Given the description of an element on the screen output the (x, y) to click on. 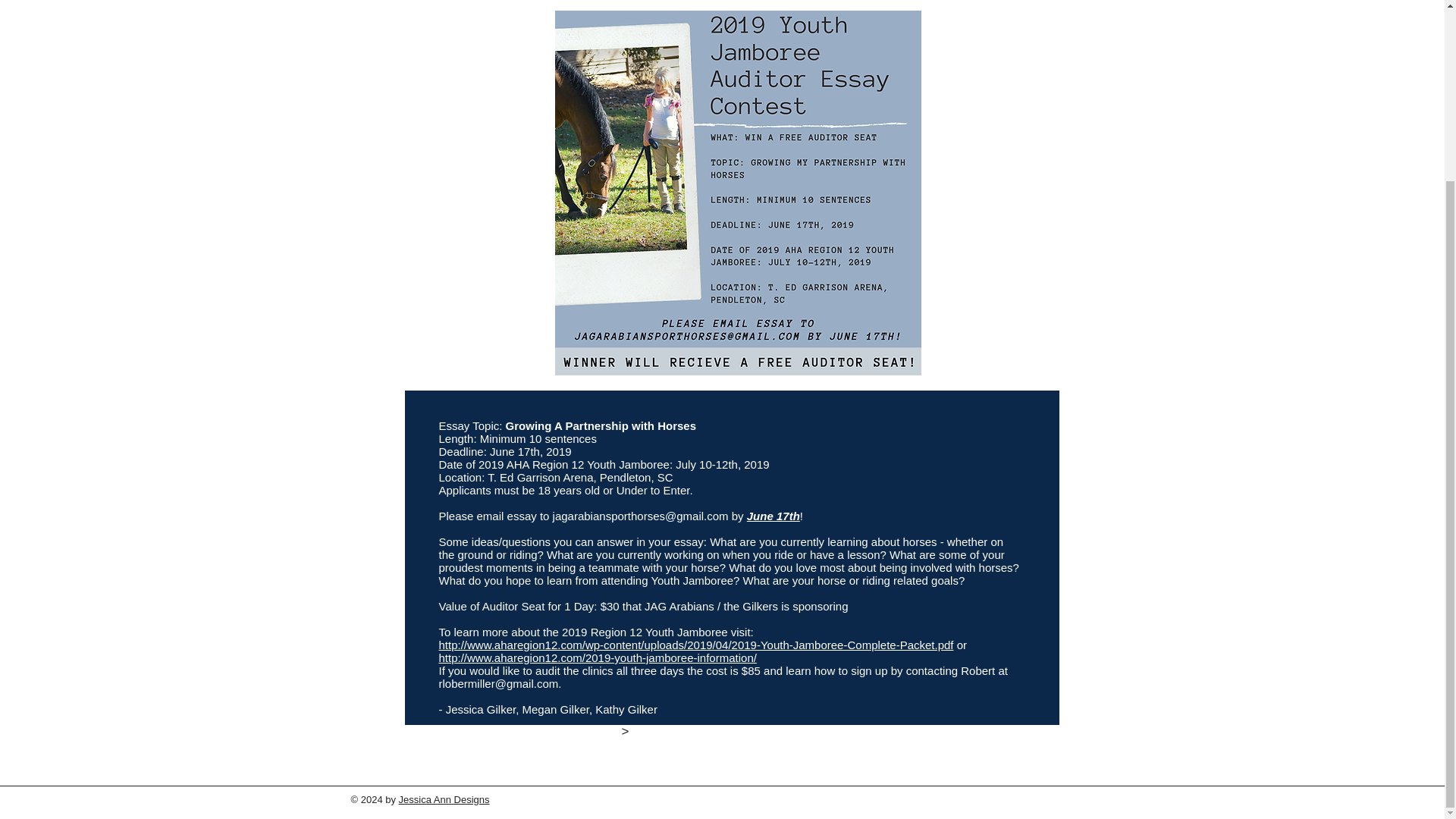
Jessica Ann Designs (443, 799)
